Given the description of an element on the screen output the (x, y) to click on. 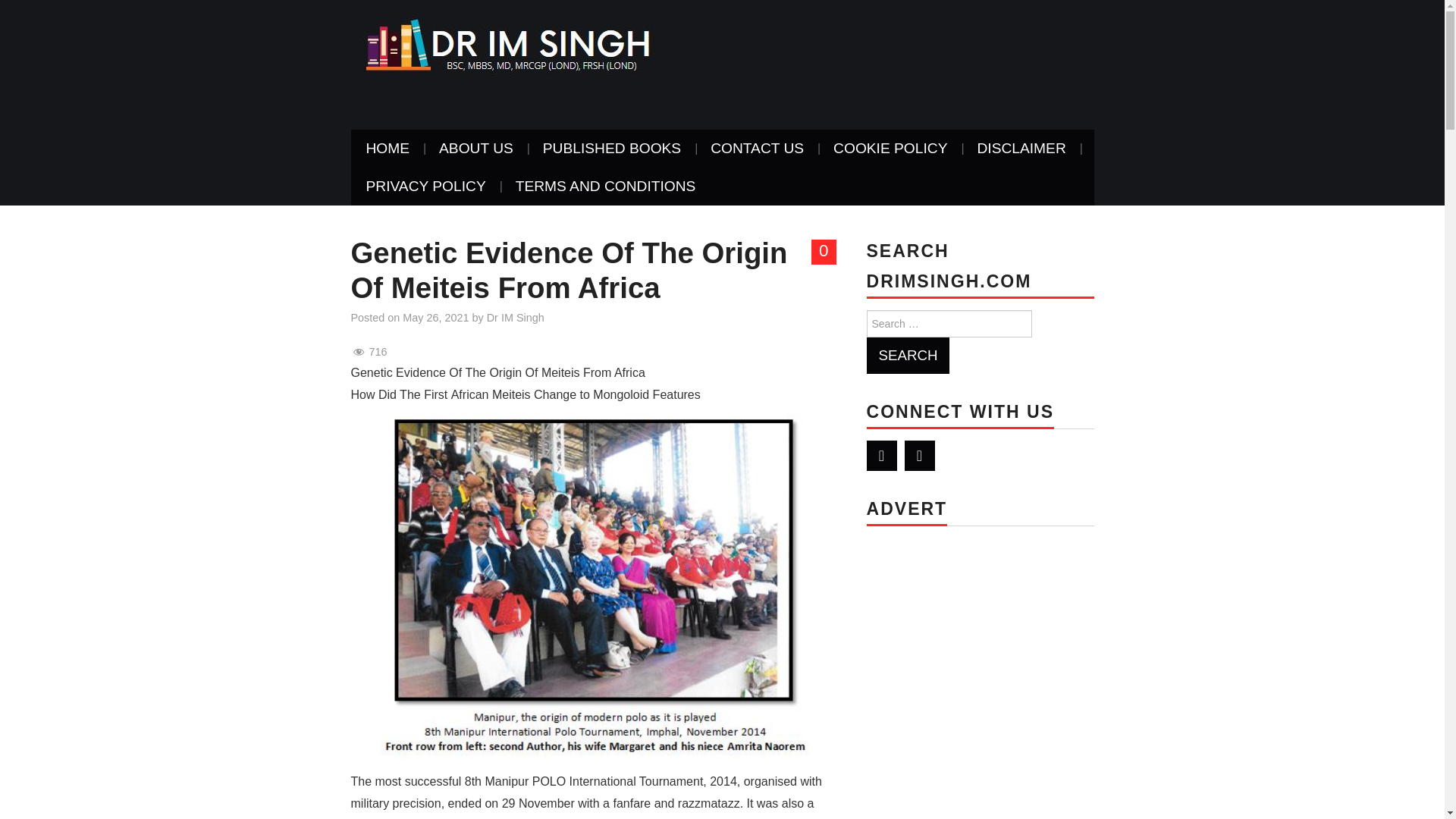
Dr IM Singh (503, 43)
PRIVACY POLICY (425, 186)
May 26, 2021 (435, 317)
CONTACT US (756, 148)
View all posts by Dr IM Singh (515, 317)
Search (907, 355)
Search for: (948, 323)
COOKIE POLICY (890, 148)
Twitter (881, 455)
PUBLISHED BOOKS (611, 148)
Search (907, 355)
Search (907, 355)
DISCLAIMER (1020, 148)
Facebook (919, 455)
Dr IM Singh (515, 317)
